Given the description of an element on the screen output the (x, y) to click on. 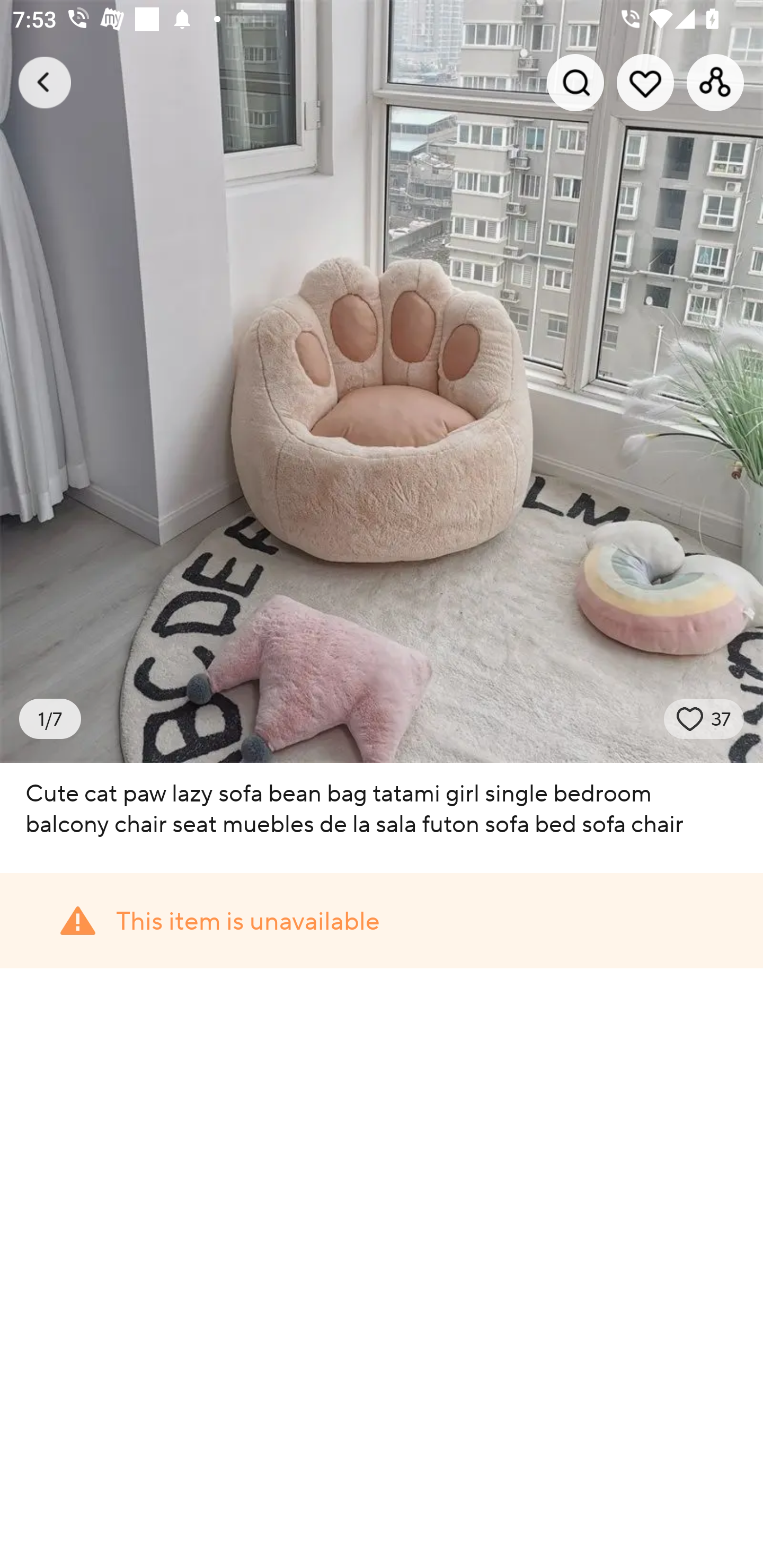
Navigate up (44, 82)
wish state 37 (703, 718)
